Given the description of an element on the screen output the (x, y) to click on. 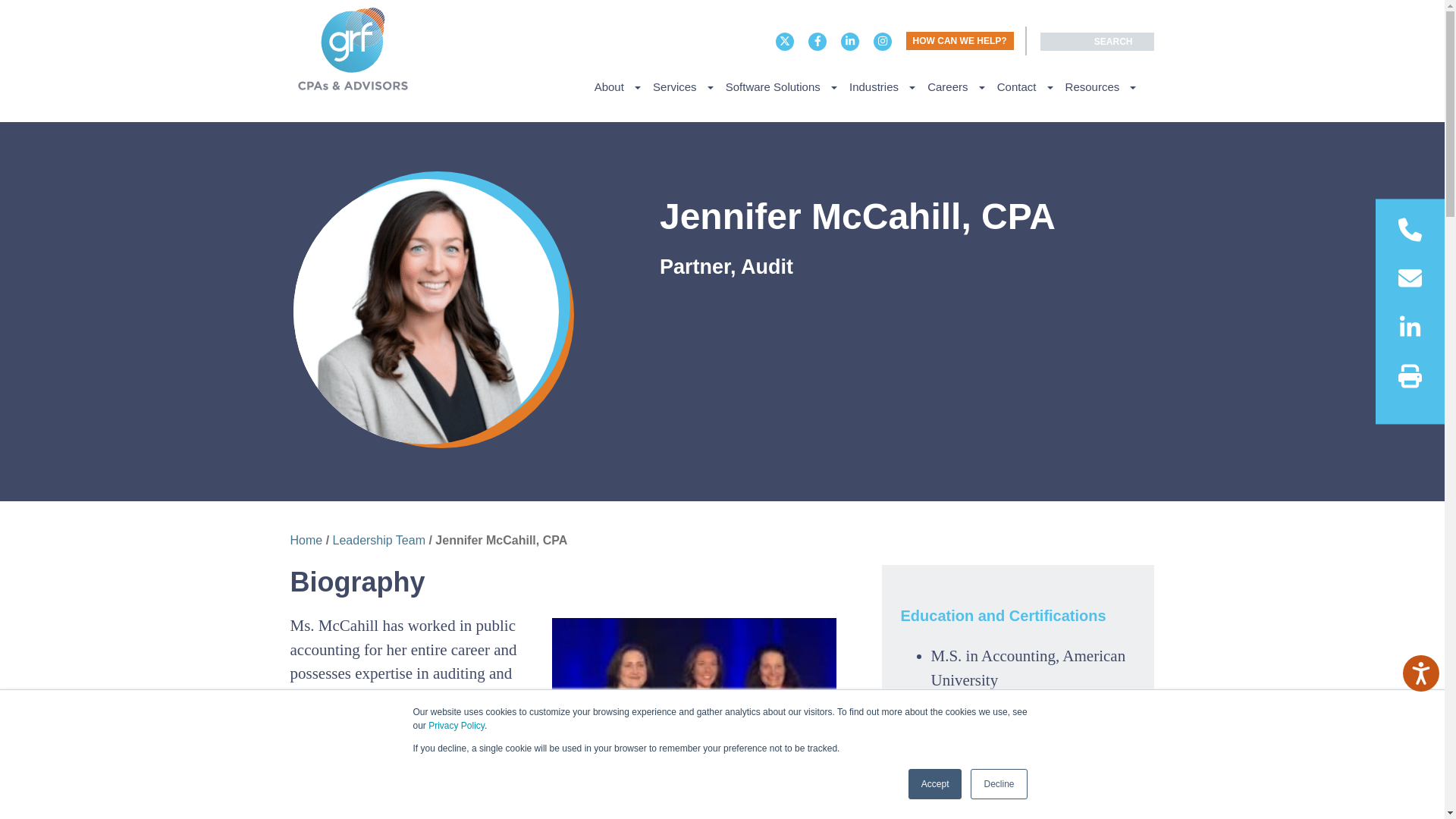
Our Founders (1274, 114)
Privacy Policy (456, 725)
About (617, 86)
Accept (935, 784)
HOW CAN WE HELP? (959, 40)
Search for: (1097, 41)
Decline (998, 784)
Services (682, 86)
